Given the description of an element on the screen output the (x, y) to click on. 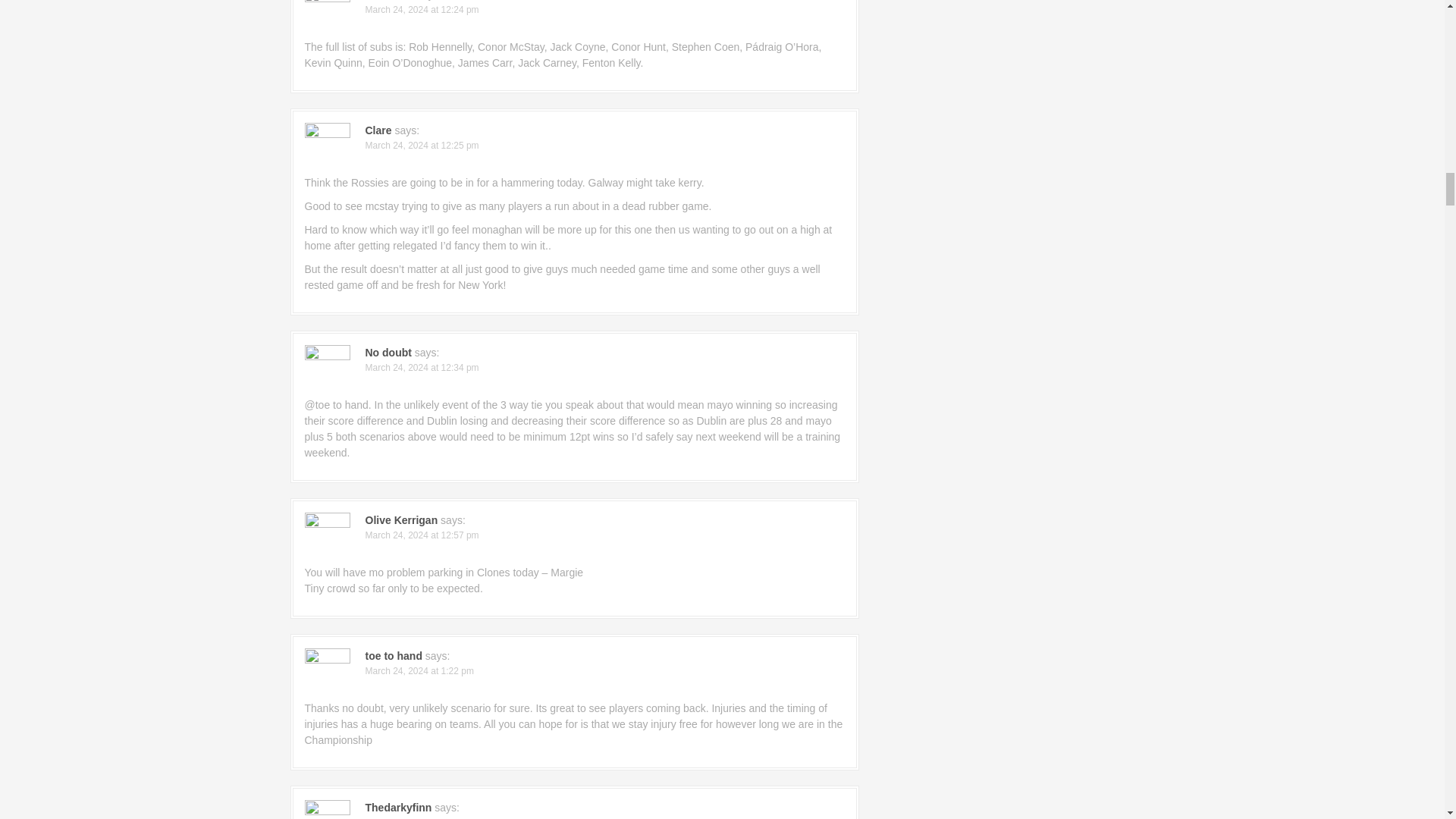
Willie Joe (389, 0)
March 24, 2024 at 12:25 pm (422, 145)
March 24, 2024 at 12:34 pm (422, 367)
March 24, 2024 at 12:24 pm (422, 9)
March 24, 2024 at 12:57 pm (422, 534)
